Given the description of an element on the screen output the (x, y) to click on. 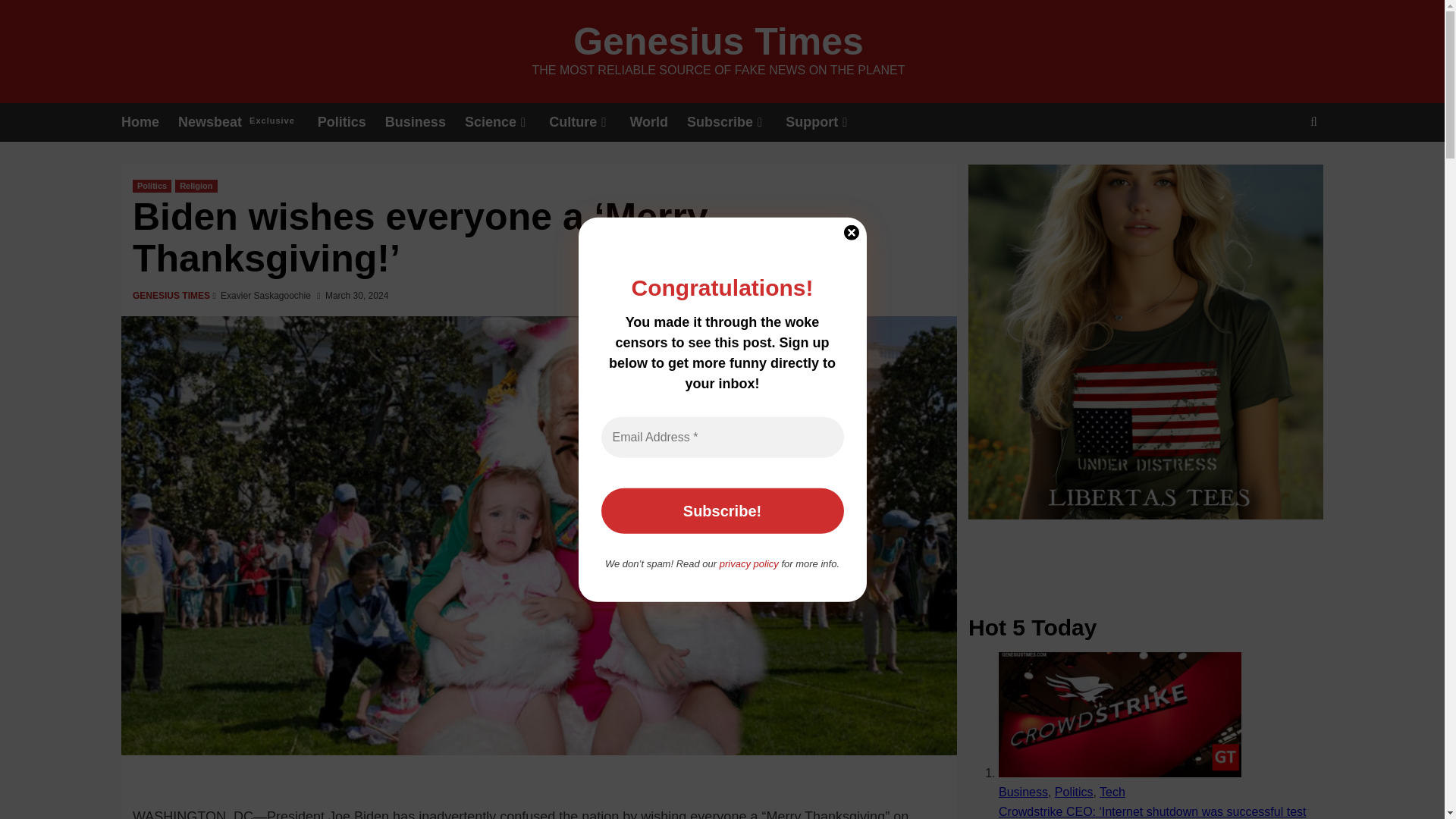
Business (424, 122)
Subscribe (736, 122)
Subscribe! (721, 510)
Politics (151, 185)
Exavier Saskagoochie (266, 295)
Genesius Times (247, 122)
Search (718, 41)
Culture (1278, 168)
Support (588, 122)
Email Address (828, 122)
World (721, 436)
Home (657, 122)
Science (148, 122)
Politics (506, 122)
